Given the description of an element on the screen output the (x, y) to click on. 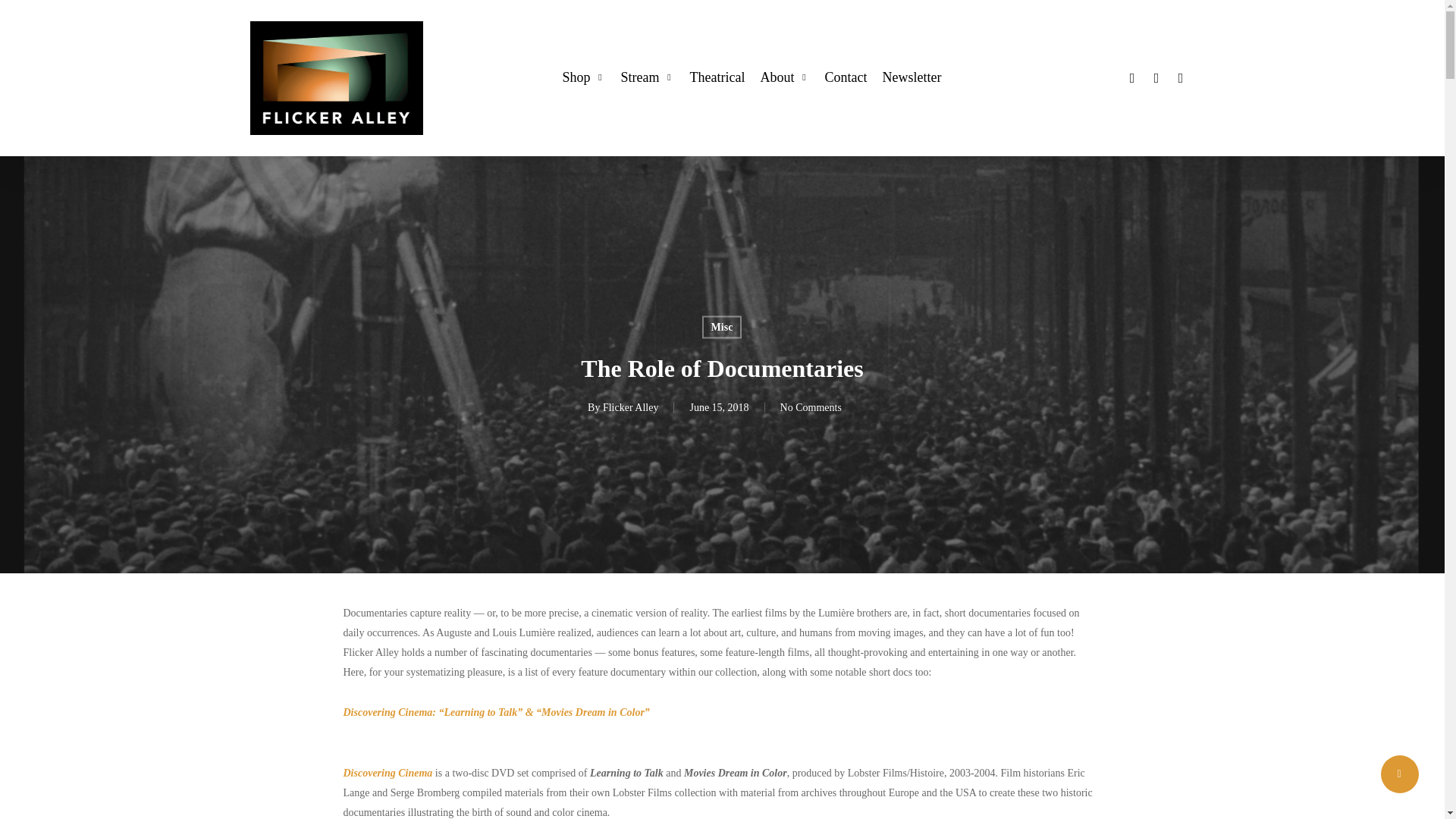
twitter (1131, 76)
facebook (1156, 76)
Stream (647, 76)
Discovering Cinema (387, 772)
Newsletter (911, 76)
Posts by Flicker Alley (630, 407)
Theatrical (716, 76)
instagram (1180, 76)
No Comments (810, 407)
Flicker Alley (630, 407)
